Given the description of an element on the screen output the (x, y) to click on. 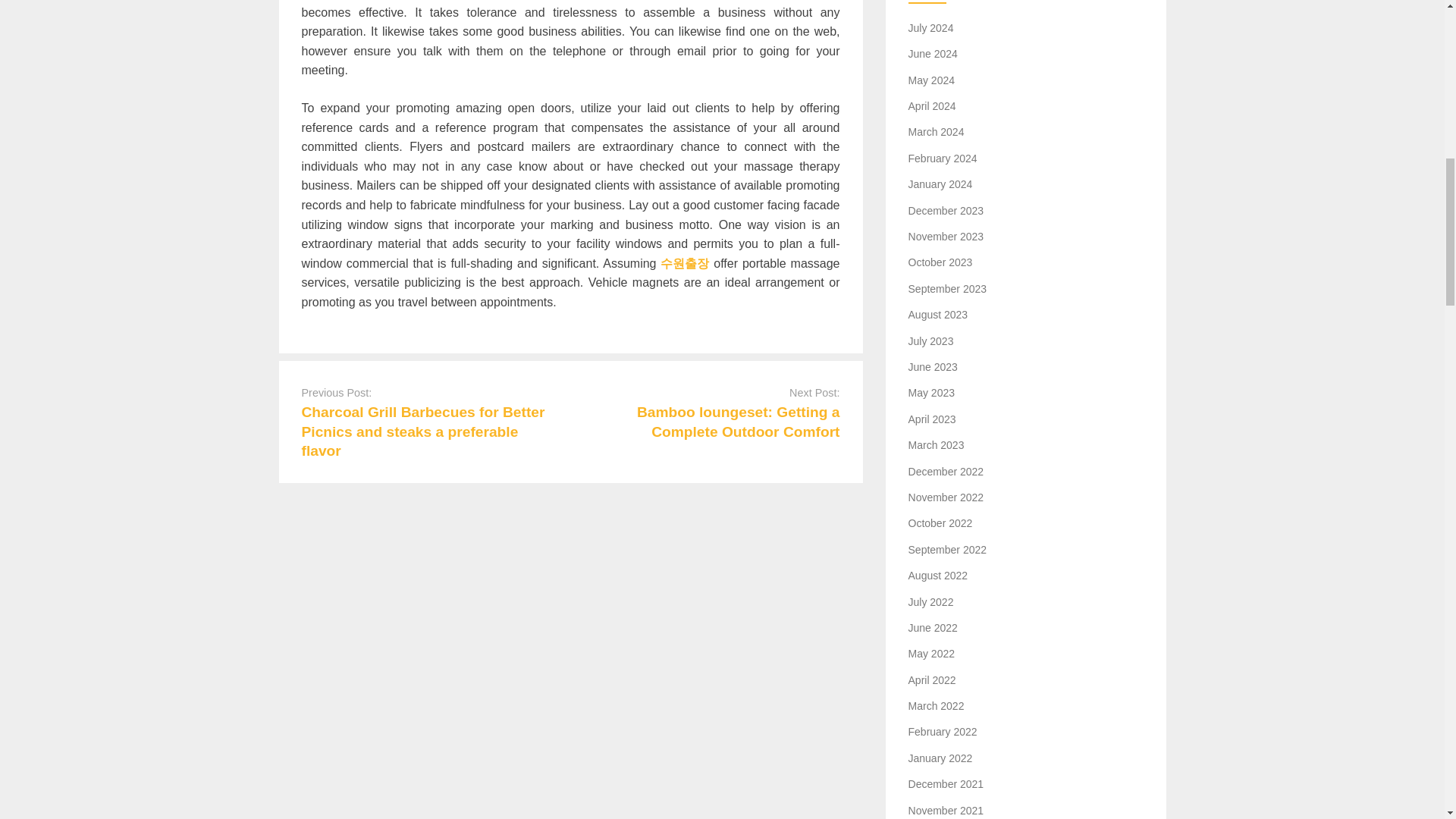
June 2024 (933, 53)
January 2024 (940, 184)
July 2022 (930, 602)
April 2024 (932, 105)
May 2024 (931, 80)
February 2024 (942, 158)
April 2023 (932, 419)
October 2022 (940, 522)
December 2022 (946, 471)
March 2024 (935, 132)
October 2023 (940, 262)
August 2023 (938, 314)
November 2022 (946, 497)
November 2023 (946, 236)
June 2022 (933, 627)
